Given the description of an element on the screen output the (x, y) to click on. 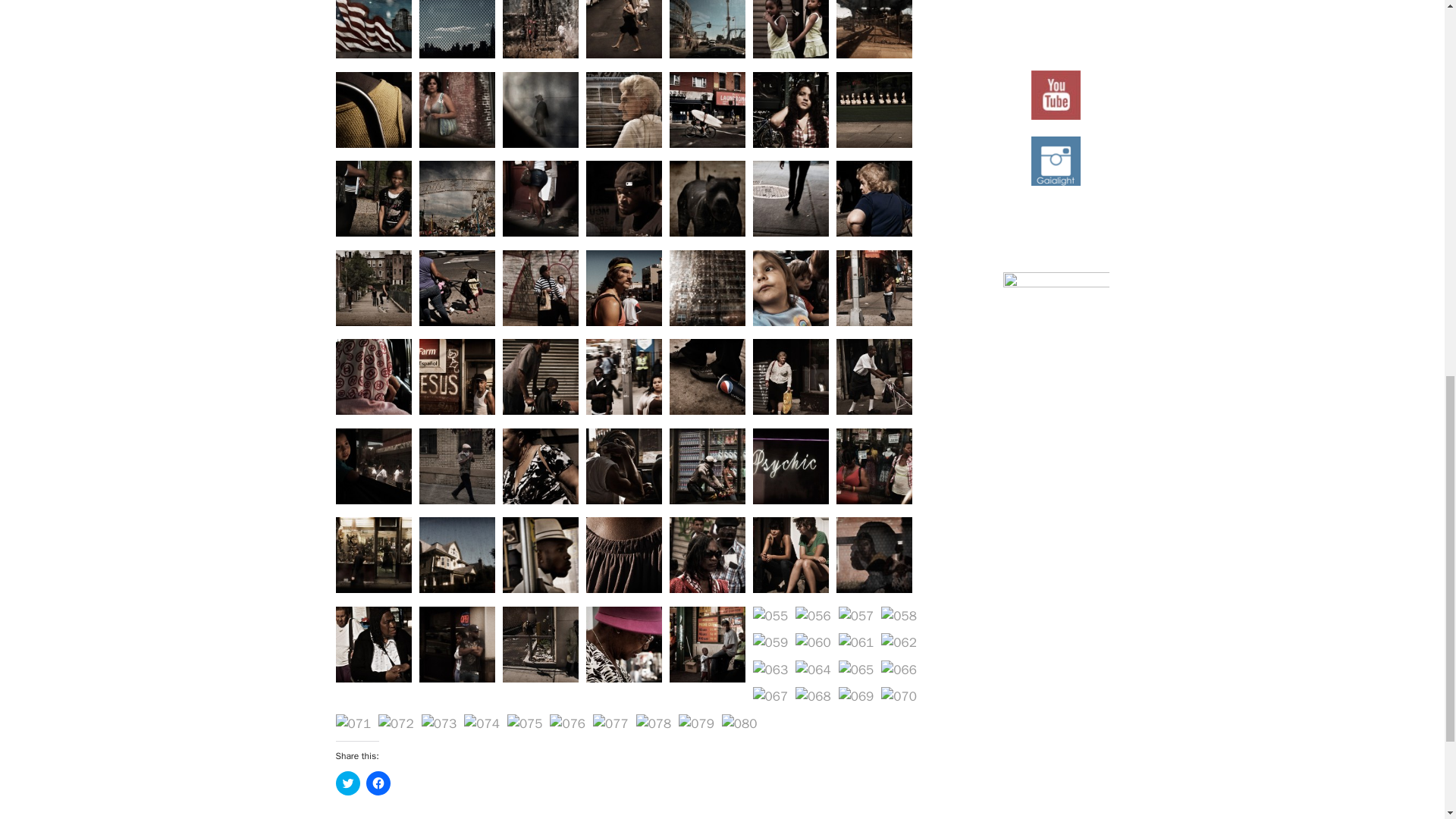
BROOKLYN BUZZ, 2010-2012 (372, 53)
BROOKLYN BUZZ, 2010-2012 (540, 143)
BROOKLYN BUZZ, 2010-2012 (706, 53)
BROOKLYN BUZZ, 2010-2012 (372, 232)
BROOKLYN BUZZ, 2010-2012 (873, 53)
BROOKLYN BUZZ, 2010-2012 (790, 53)
BROOKLYN BUZZ, 2010-2012 (540, 53)
BROOKLYN BUZZ, 2010-2012 (623, 53)
BROOKLYN BUZZ, 2010-2012 (623, 143)
BROOKLYN BUZZ, 2010-2012 (790, 143)
